Given the description of an element on the screen output the (x, y) to click on. 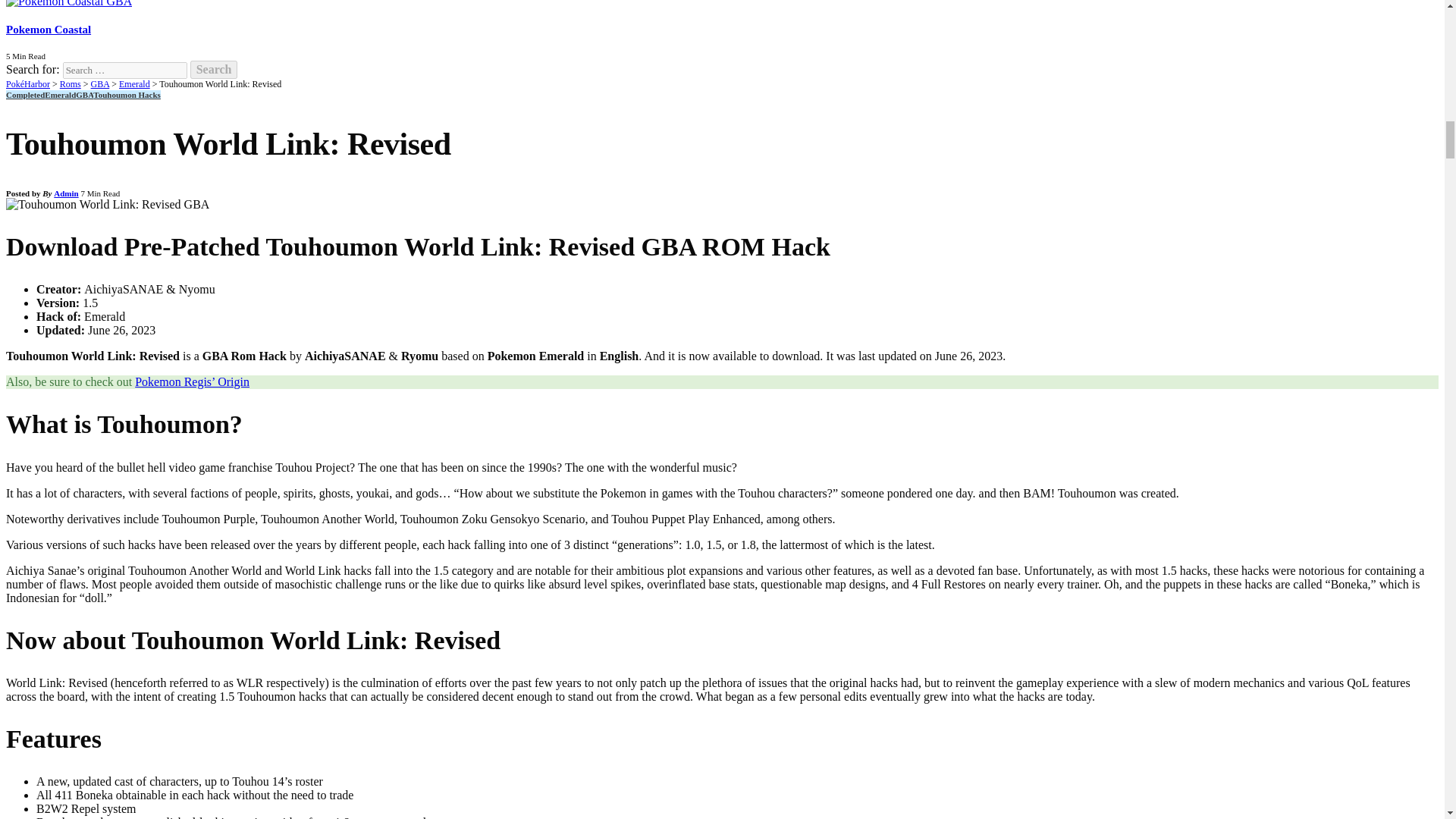
Search (214, 69)
Search (214, 69)
